Given the description of an element on the screen output the (x, y) to click on. 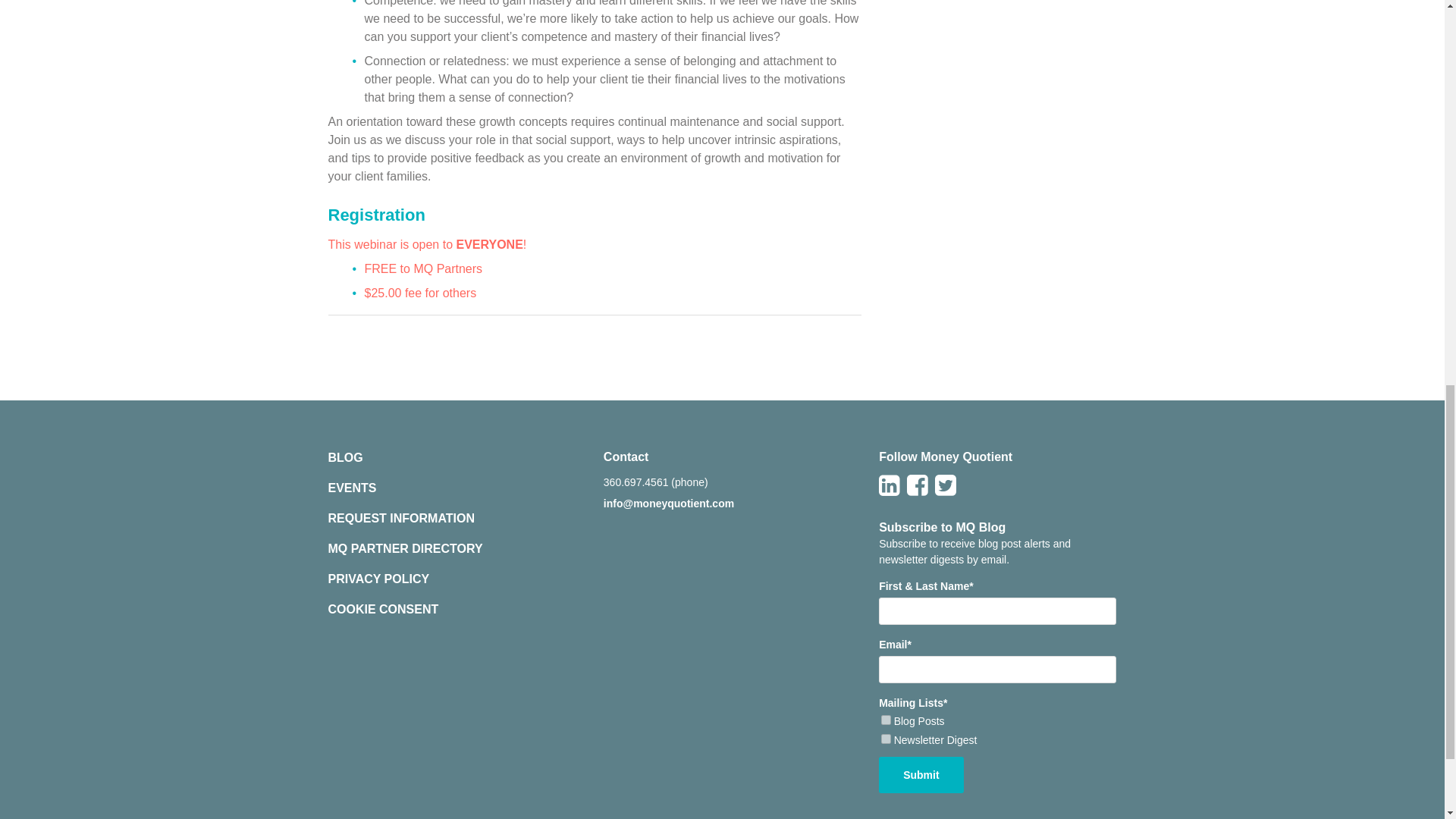
BLOG (344, 457)
e386068f8241 (885, 738)
EVENTS (351, 487)
Submit (920, 774)
COOKIE CONSENT (382, 609)
PRIVACY POLICY (378, 578)
REQUEST INFORMATION (400, 517)
MQ PARTNER DIRECTORY (404, 548)
f0a9d1acb490 (885, 719)
